Given the description of an element on the screen output the (x, y) to click on. 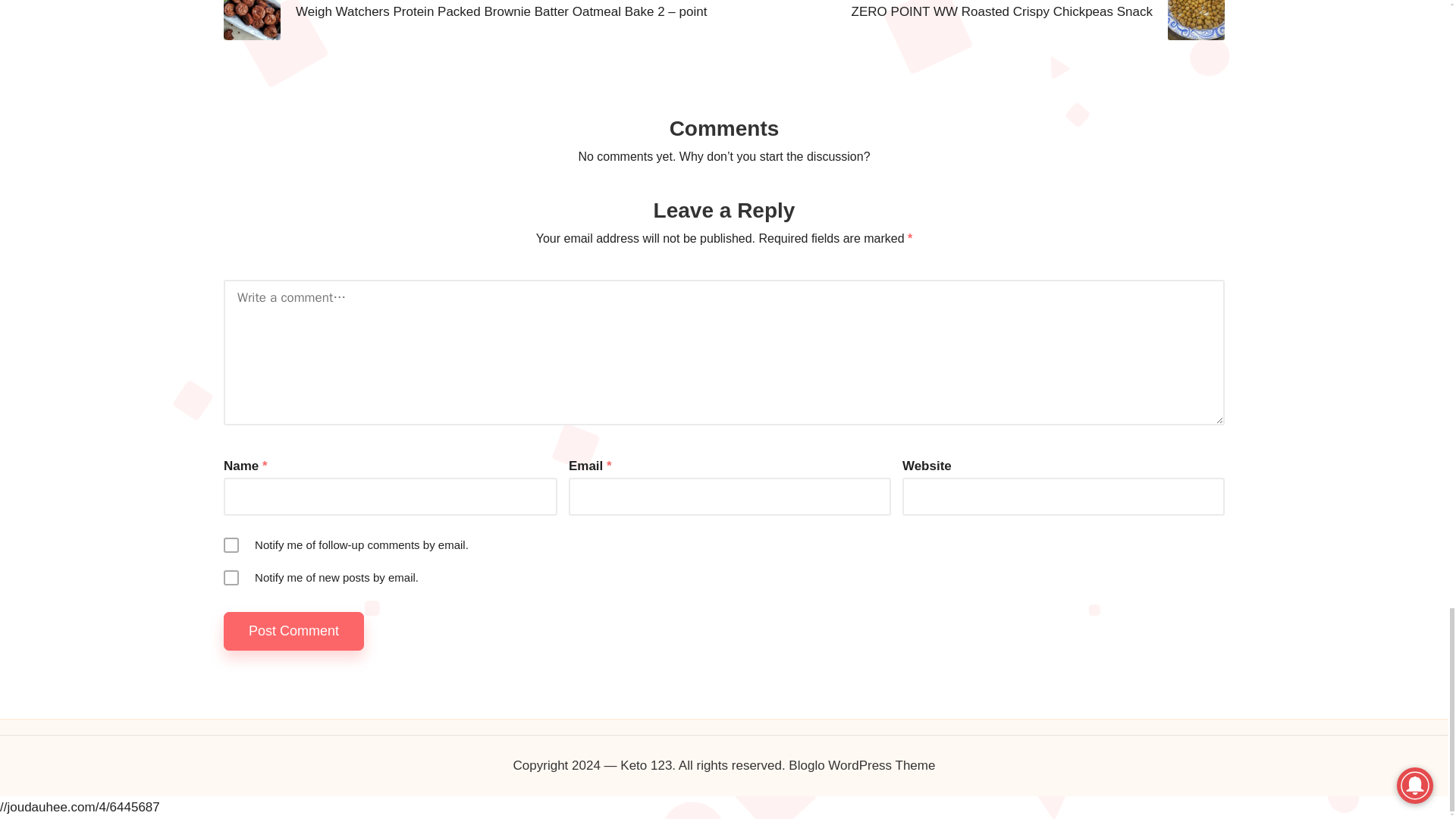
ZERO POINT WW Roasted Crispy Chickpeas Snack (973, 20)
subscribe (231, 544)
subscribe (231, 577)
Post Comment (294, 630)
